Given the description of an element on the screen output the (x, y) to click on. 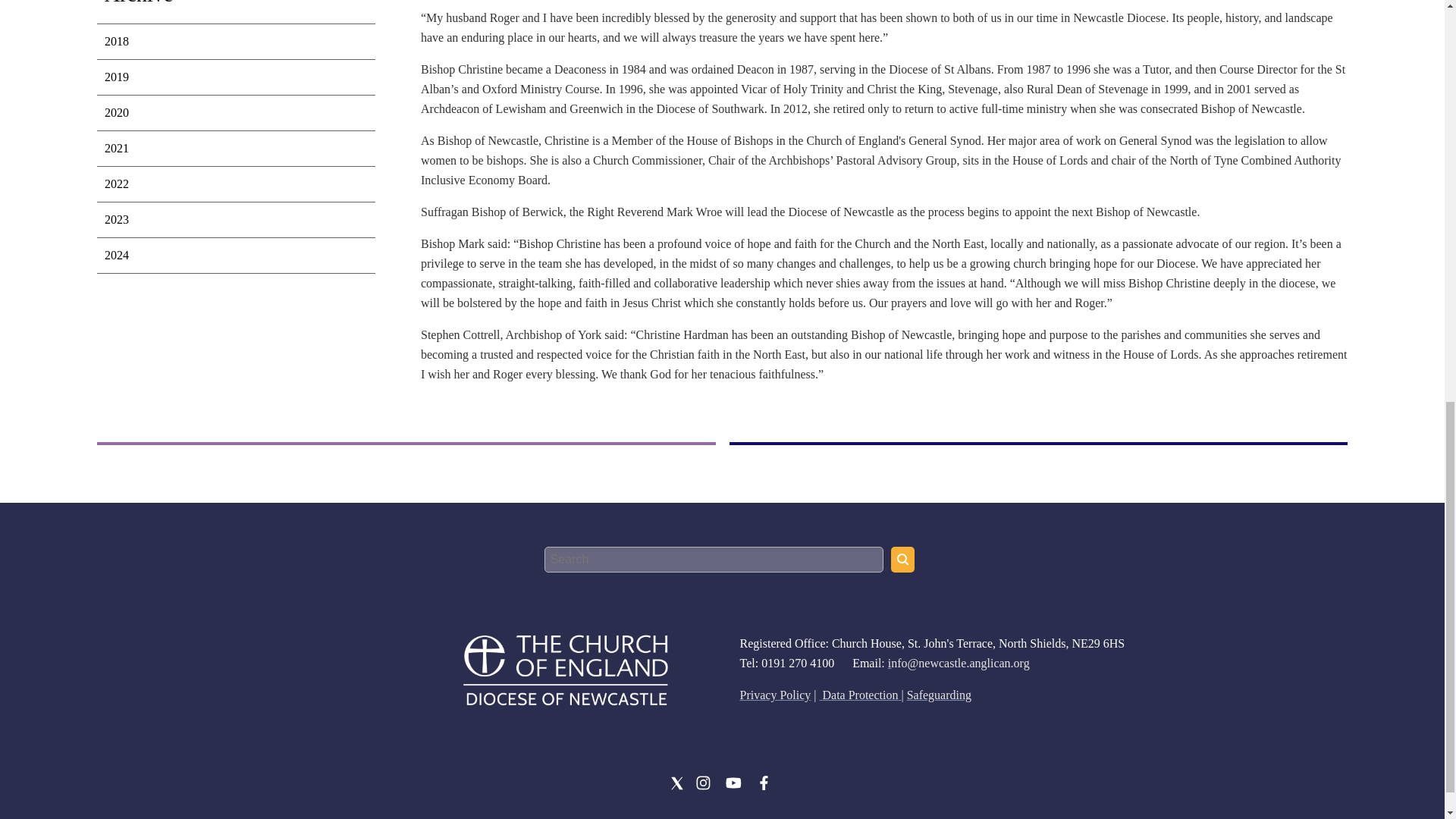
Logo (563, 668)
